Given the description of an element on the screen output the (x, y) to click on. 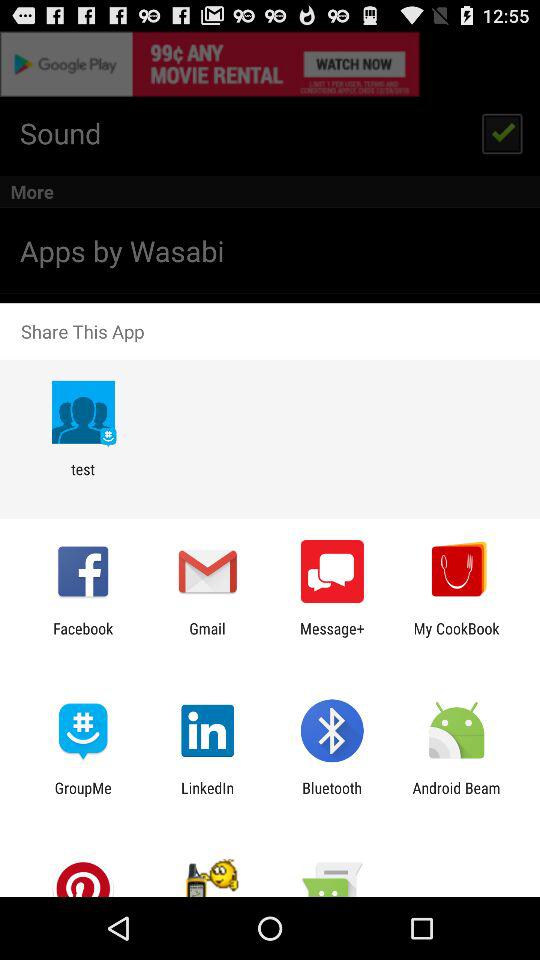
press message+ (332, 637)
